Given the description of an element on the screen output the (x, y) to click on. 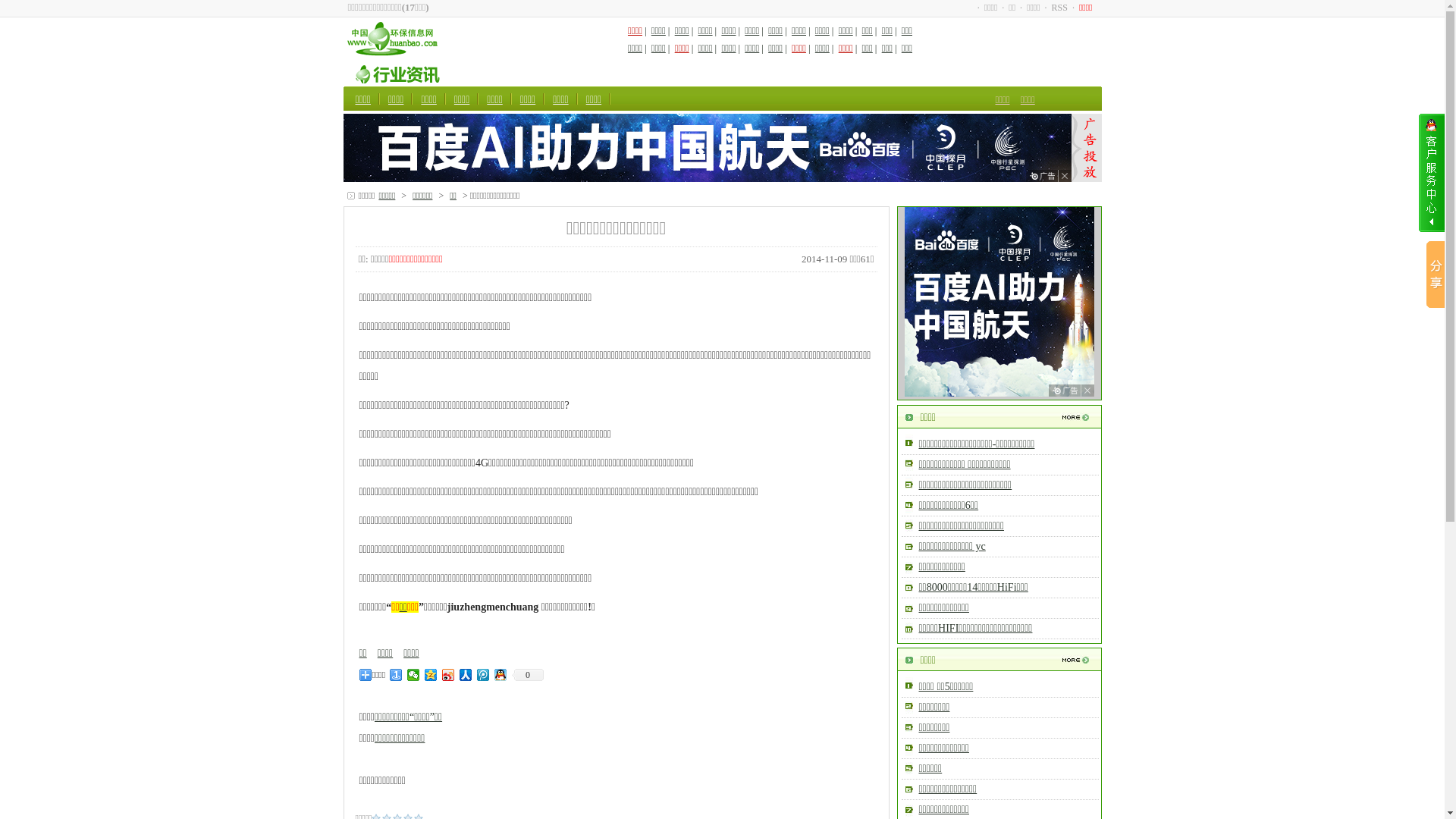
0 Element type: text (527, 674)
RSS Element type: text (1059, 7)
